Given the description of an element on the screen output the (x, y) to click on. 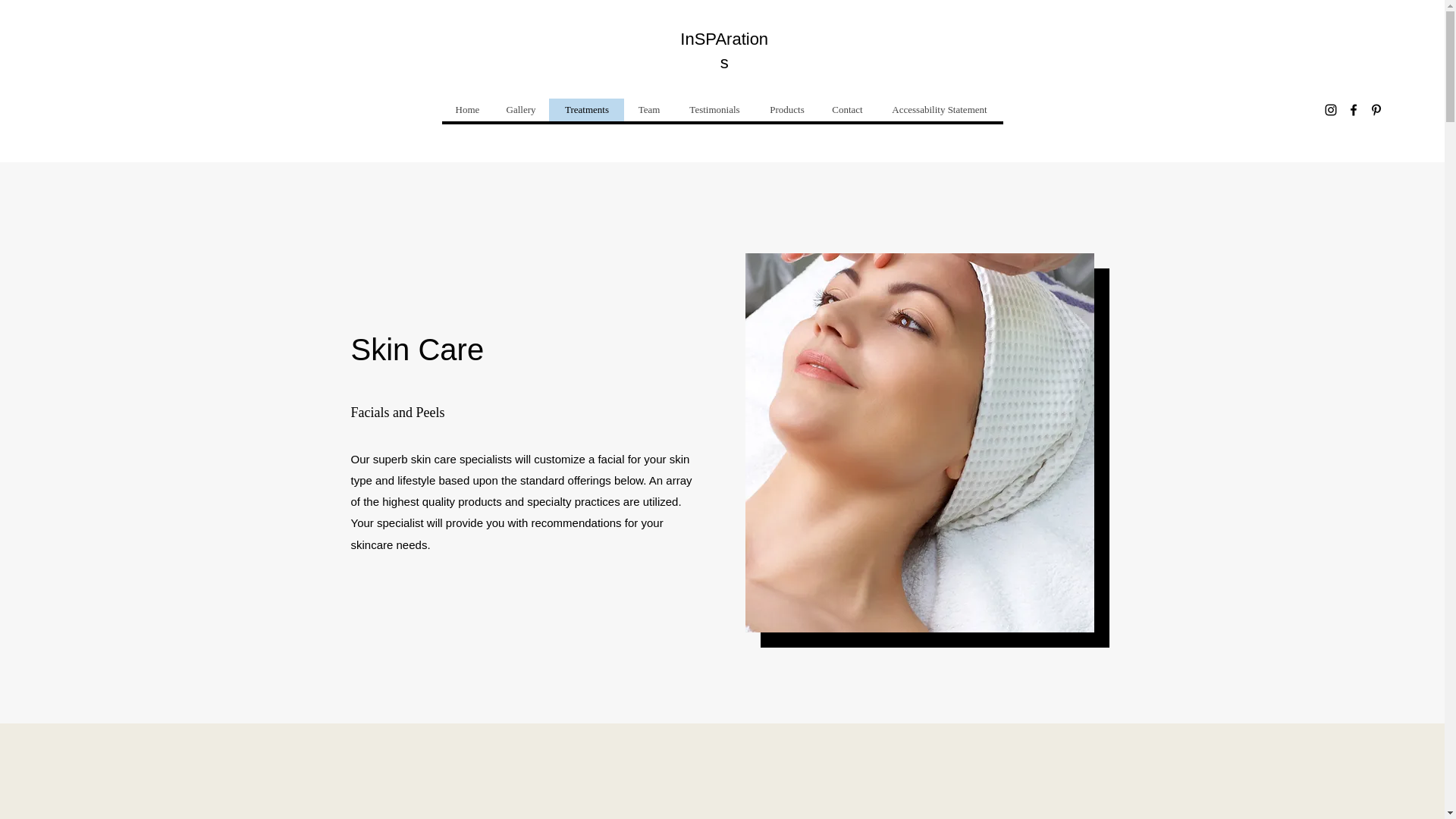
Contact (847, 109)
InSPArations (723, 50)
Testimonials (713, 109)
Treatments (586, 109)
Gallery (520, 109)
Home (467, 109)
Team (648, 109)
Products (786, 109)
Accessability Statement (939, 109)
